Given the description of an element on the screen output the (x, y) to click on. 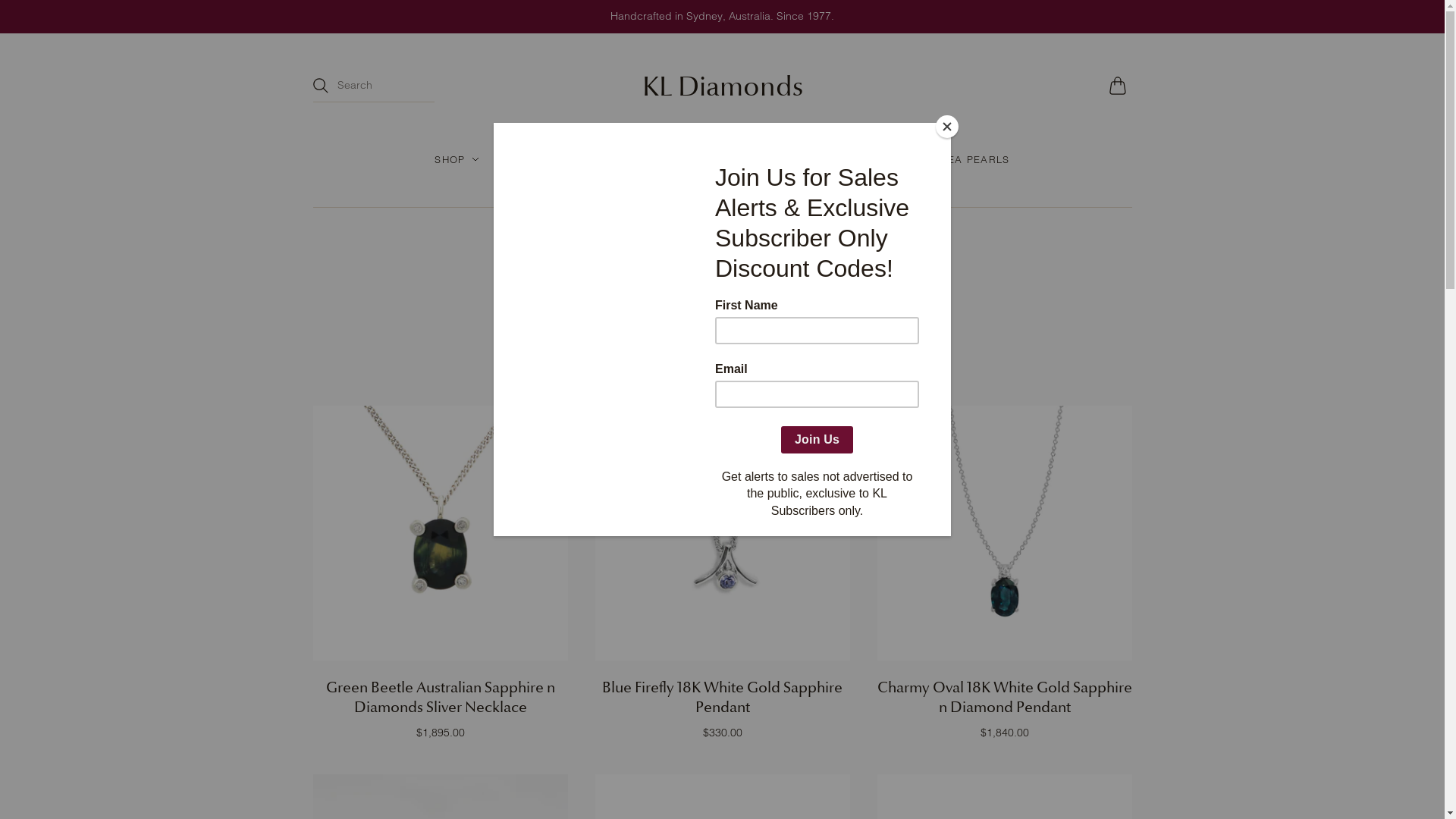
Collections Element type: text (690, 239)
KL Diamonds Element type: text (721, 86)
SOUTH SEA PEARLS Element type: text (954, 158)
SERVICES Element type: text (732, 186)
SHOP Element type: text (456, 158)
Cart Element type: text (1119, 85)
CUSTOM BRIDAL Element type: text (566, 186)
Home Element type: text (628, 239)
ABOUT US Element type: text (815, 186)
BLOGS Element type: text (659, 186)
Green Beetle Australian Sapphire n Diamonds Sliver Necklace Element type: text (440, 696)
Charmy Oval 18K White Gold Sapphire n Diamond Pendant Element type: text (1003, 696)
LOOSE DIAMONDS Element type: text (682, 158)
Blue Firefly 18K White Gold Sapphire Pendant Element type: text (722, 696)
Handcrafted in Sydney, Australia. Since 1977. Element type: text (722, 16)
CONTACT Element type: text (898, 186)
LOOSE SAPPHIRES Element type: text (819, 158)
COLLECTIONS Element type: text (551, 158)
